Given the description of an element on the screen output the (x, y) to click on. 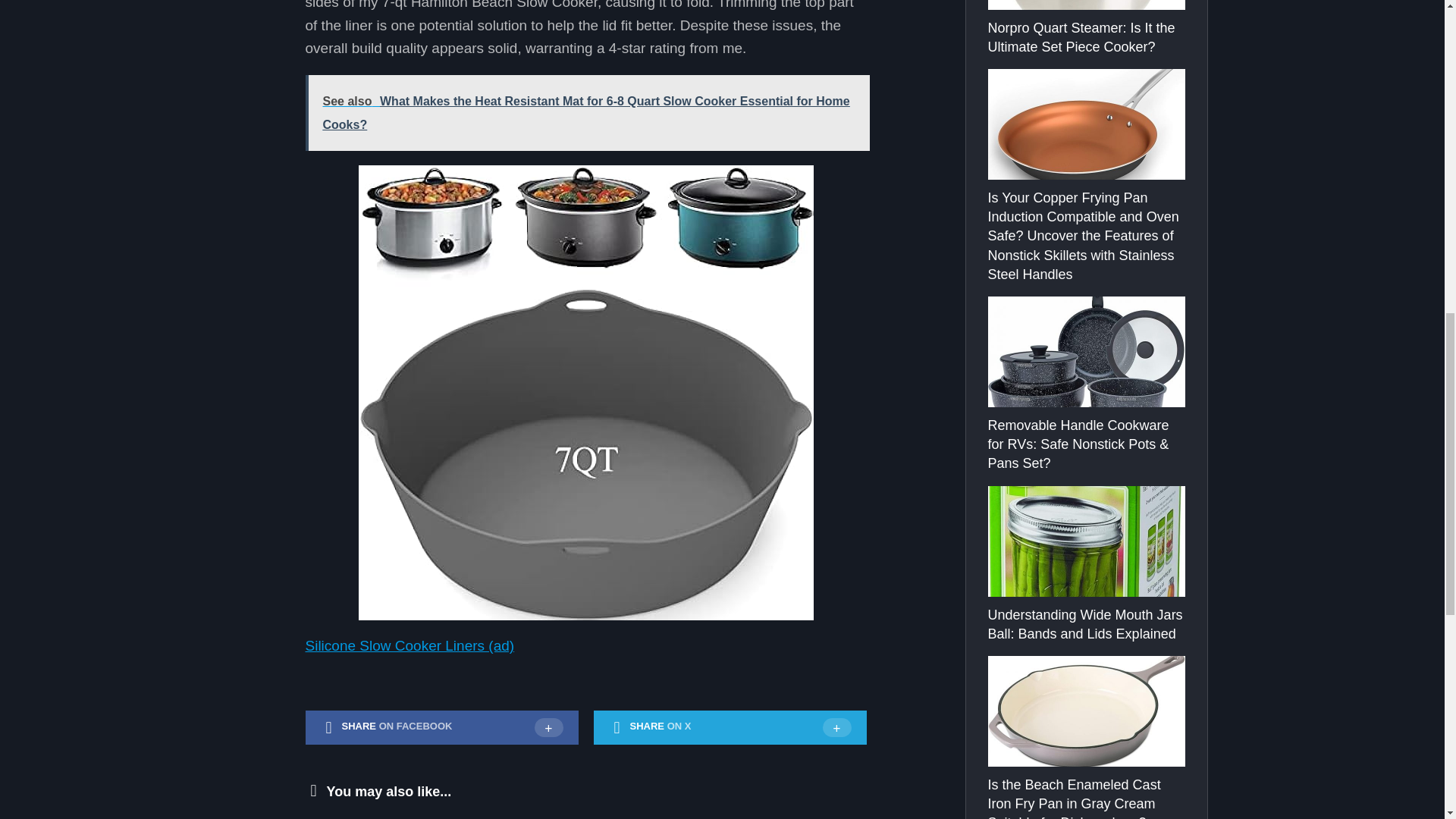
SHARE ON FACEBOOK (441, 727)
SHARE ON X (729, 727)
Norpro Quart Steamer: Is It the Ultimate Set Piece Cooker? (1080, 37)
